Given the description of an element on the screen output the (x, y) to click on. 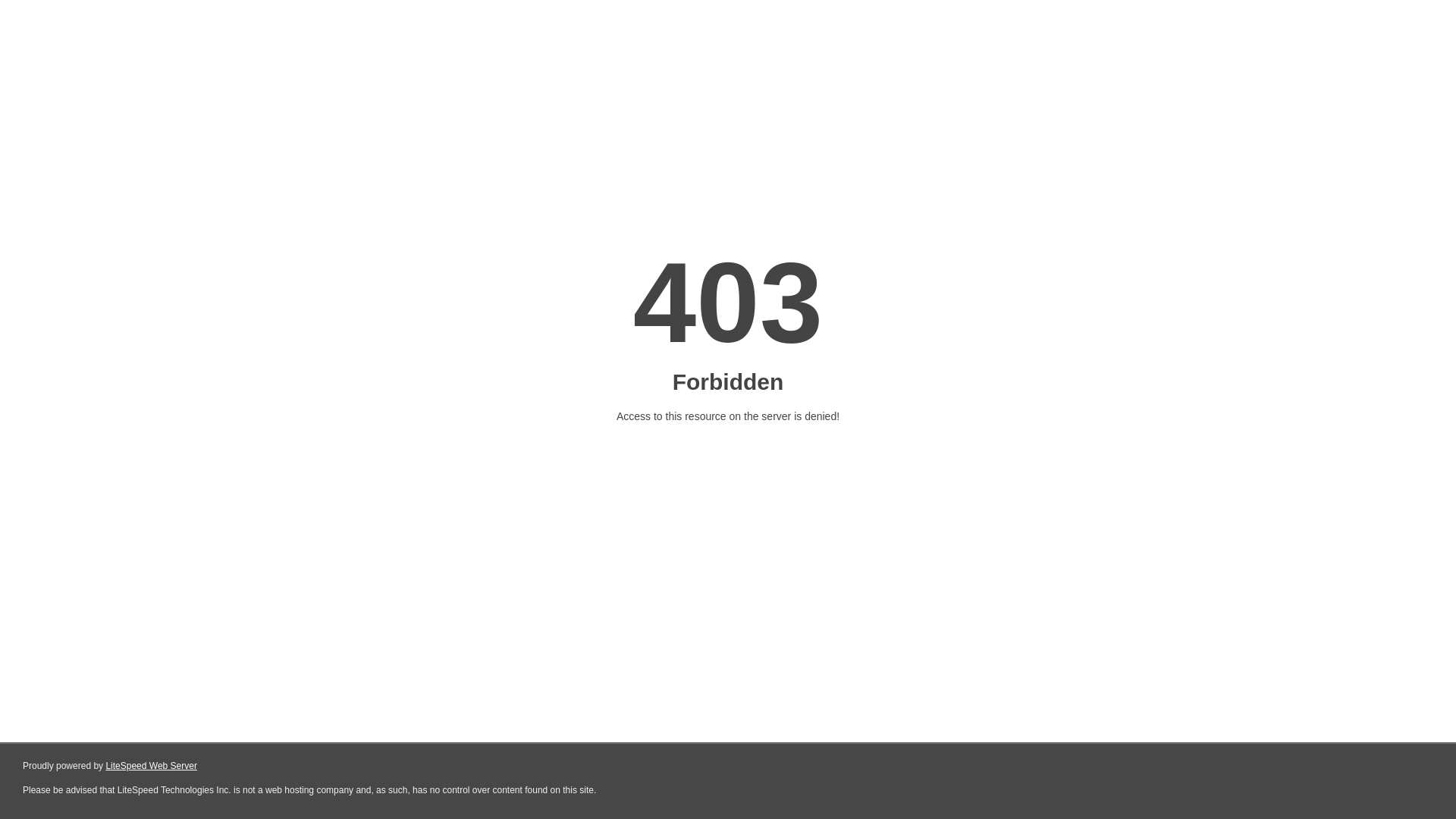
LiteSpeed Web Server Element type: text (151, 765)
